Given the description of an element on the screen output the (x, y) to click on. 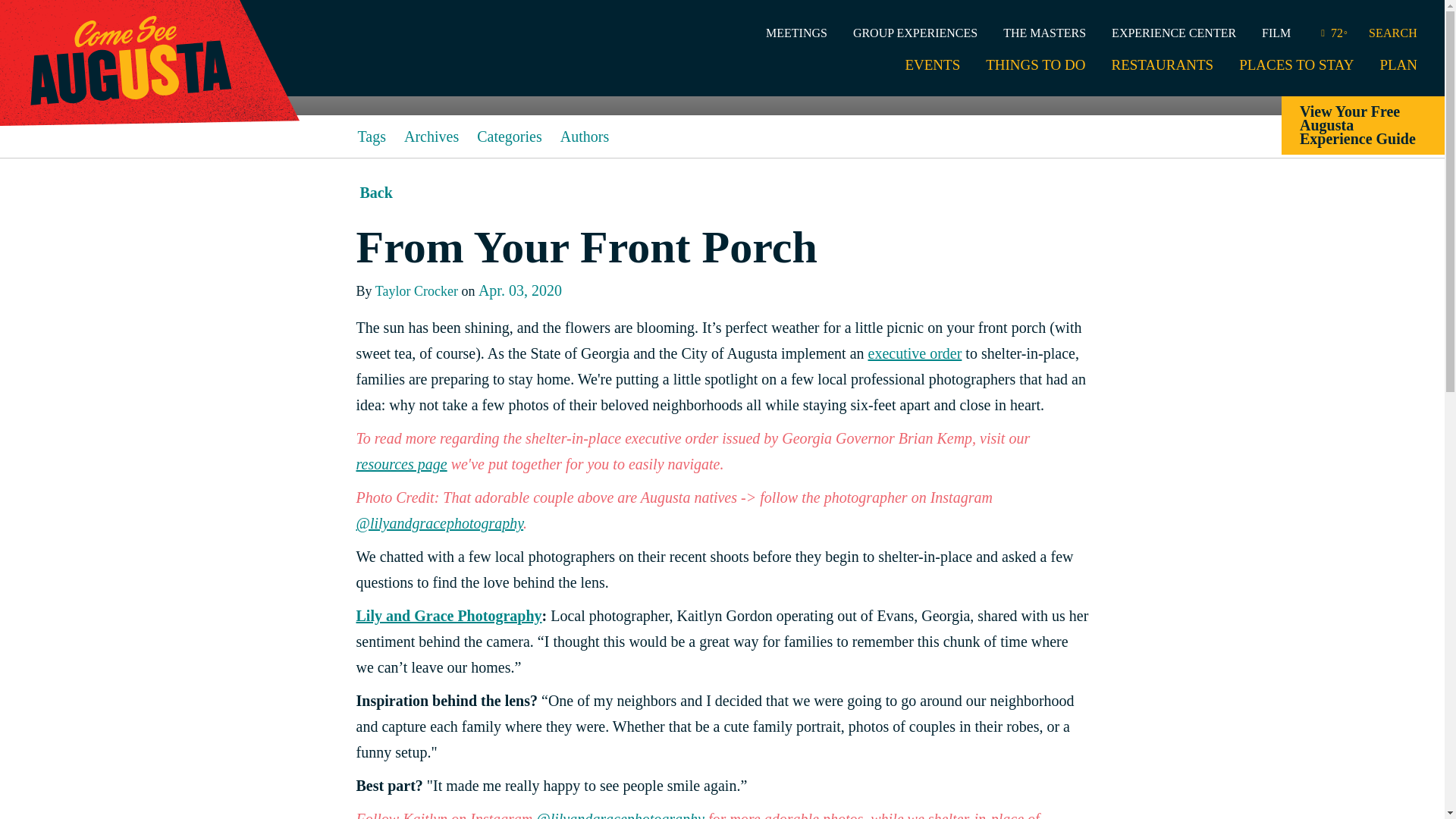
EVENTS (931, 71)
PLACES TO STAY (1296, 71)
THE MASTERS (1044, 32)
THINGS TO DO (1034, 71)
RESTAURANTS (1161, 71)
GROUP EXPERIENCES (914, 32)
EXPERIENCE CENTER (1174, 32)
SEARCH (1389, 32)
FILM (1276, 32)
MEETINGS (796, 32)
